Given the description of an element on the screen output the (x, y) to click on. 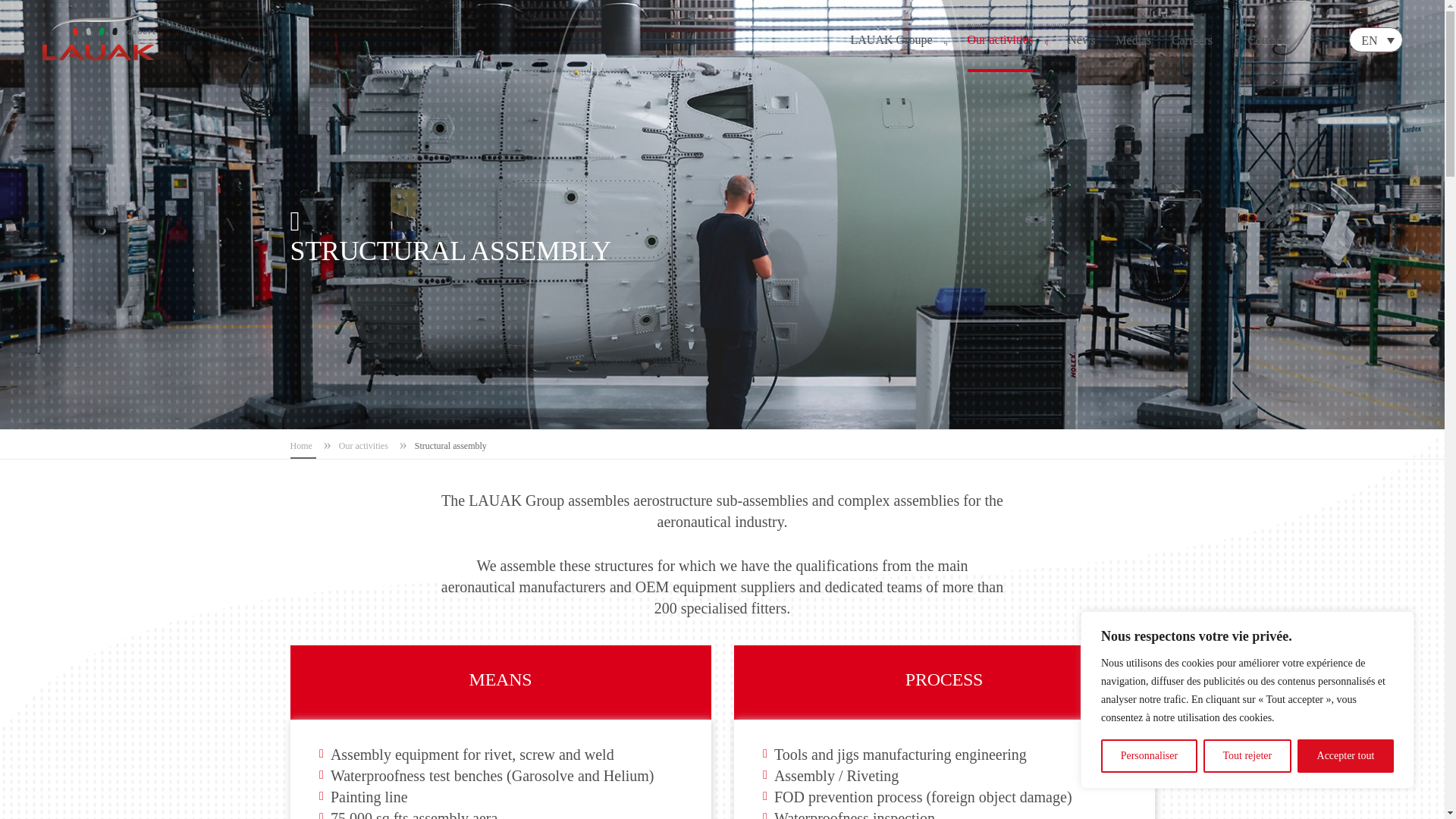
Accepter tout (1345, 756)
Personnaliser (1148, 756)
Go to Groupe Lauak. (302, 446)
Go to Our activities. (365, 446)
Tout rejeter (1247, 756)
Our activities (1007, 49)
LAUAK Groupe (898, 49)
